Given the description of an element on the screen output the (x, y) to click on. 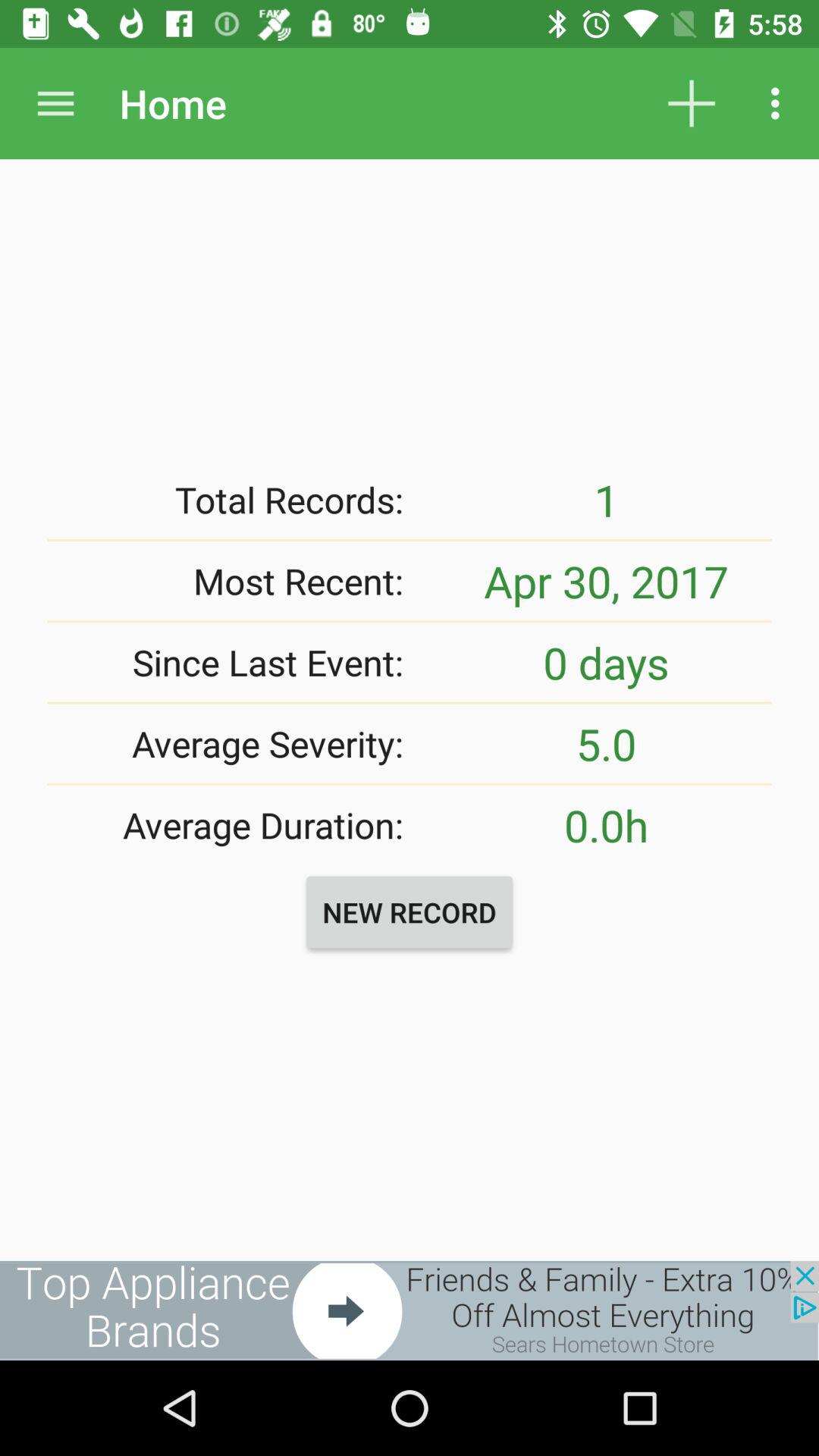
see the advertisement (409, 1310)
